Given the description of an element on the screen output the (x, y) to click on. 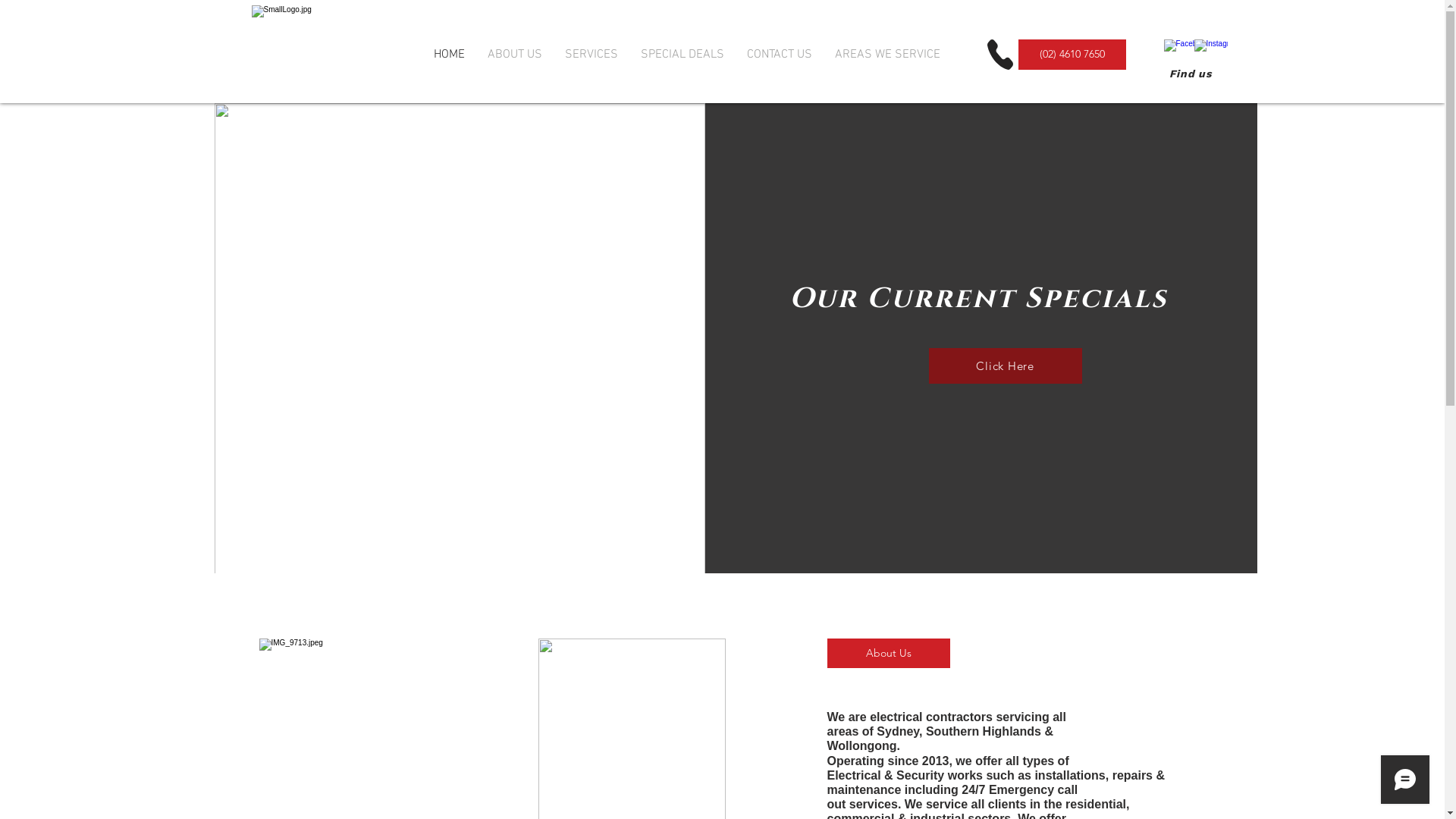
ABOUT US Element type: text (514, 54)
HOME Element type: text (449, 54)
AREAS WE SERVICE Element type: text (887, 54)
SPECIAL DEALS Element type: text (682, 54)
Click Here Element type: text (1004, 365)
CONTACT US Element type: text (779, 54)
Modern Kitchen Element type: hover (458, 370)
SERVICES Element type: text (591, 54)
